Given the description of an element on the screen output the (x, y) to click on. 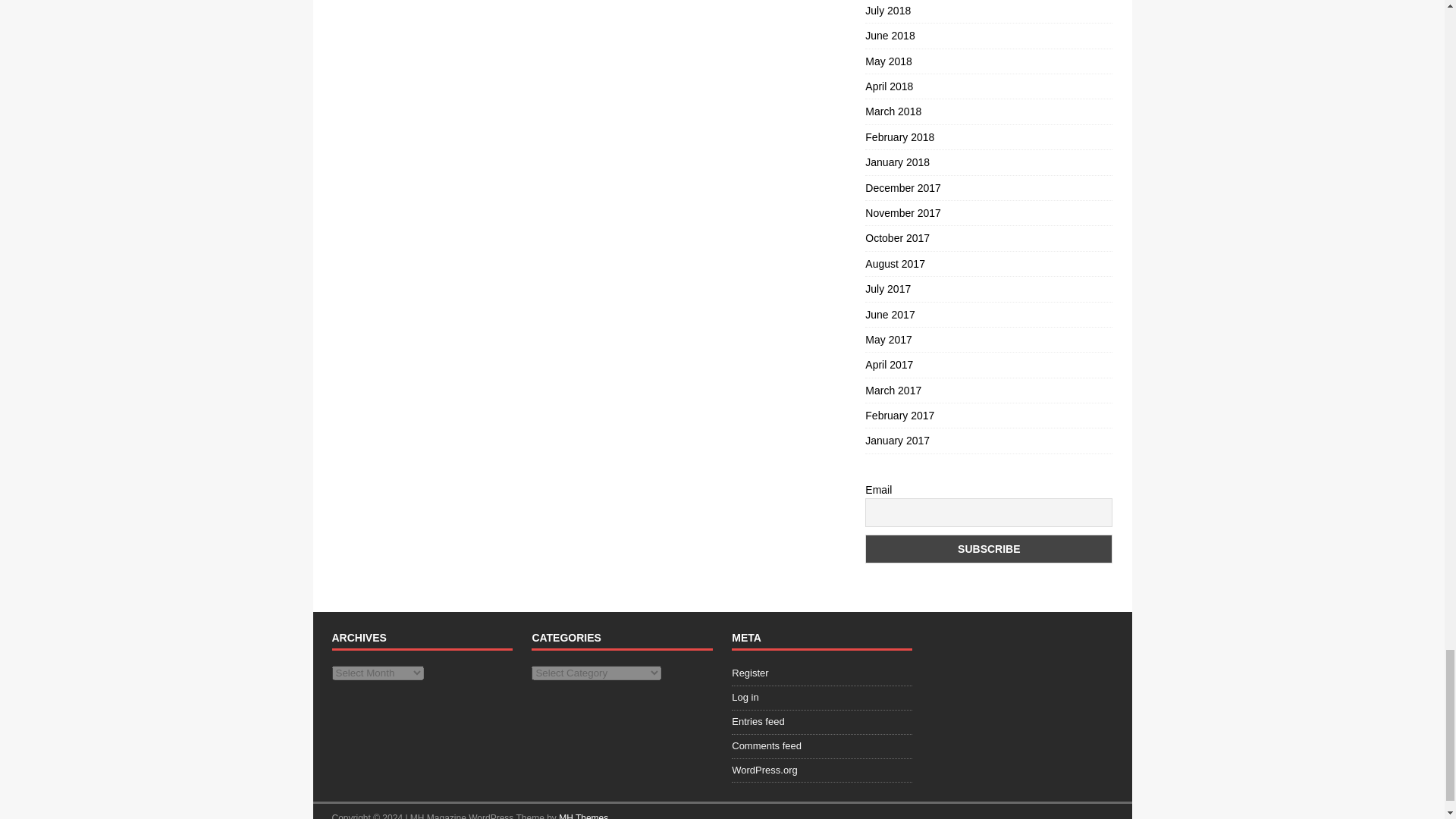
Subscribe (988, 548)
